Given the description of an element on the screen output the (x, y) to click on. 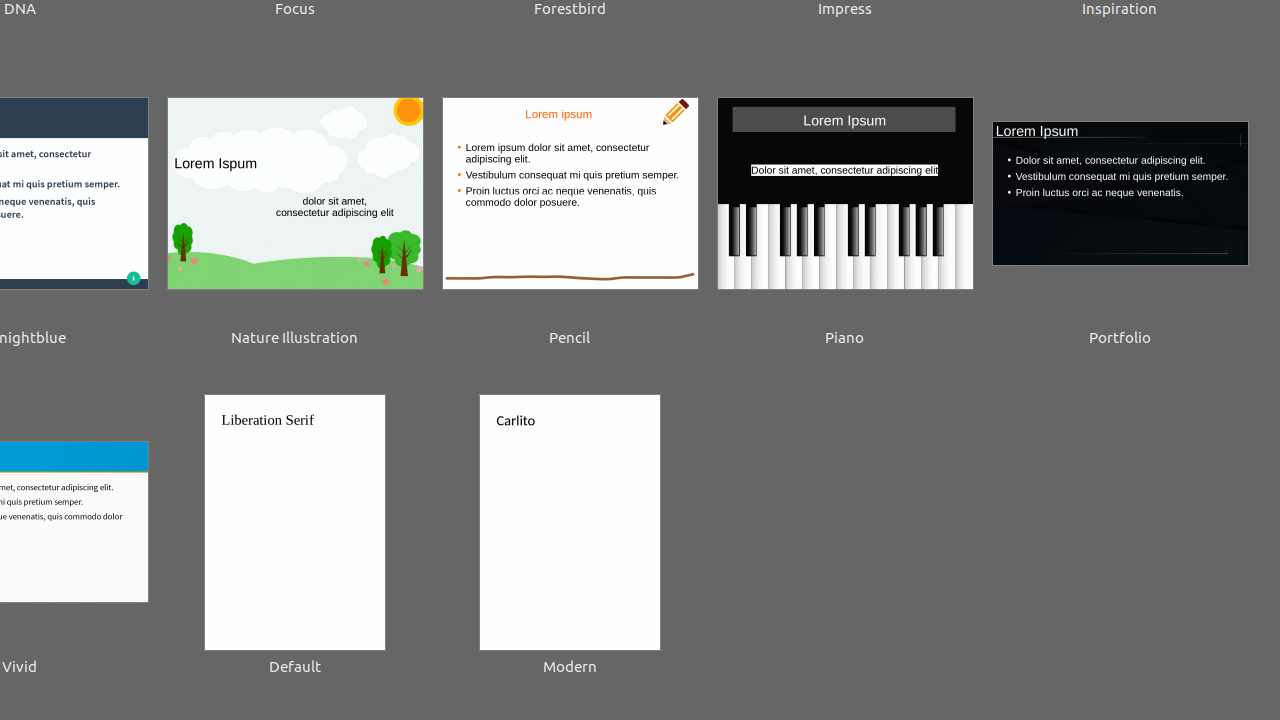
Default Element type: list-item (295, 537)
